Given the description of an element on the screen output the (x, y) to click on. 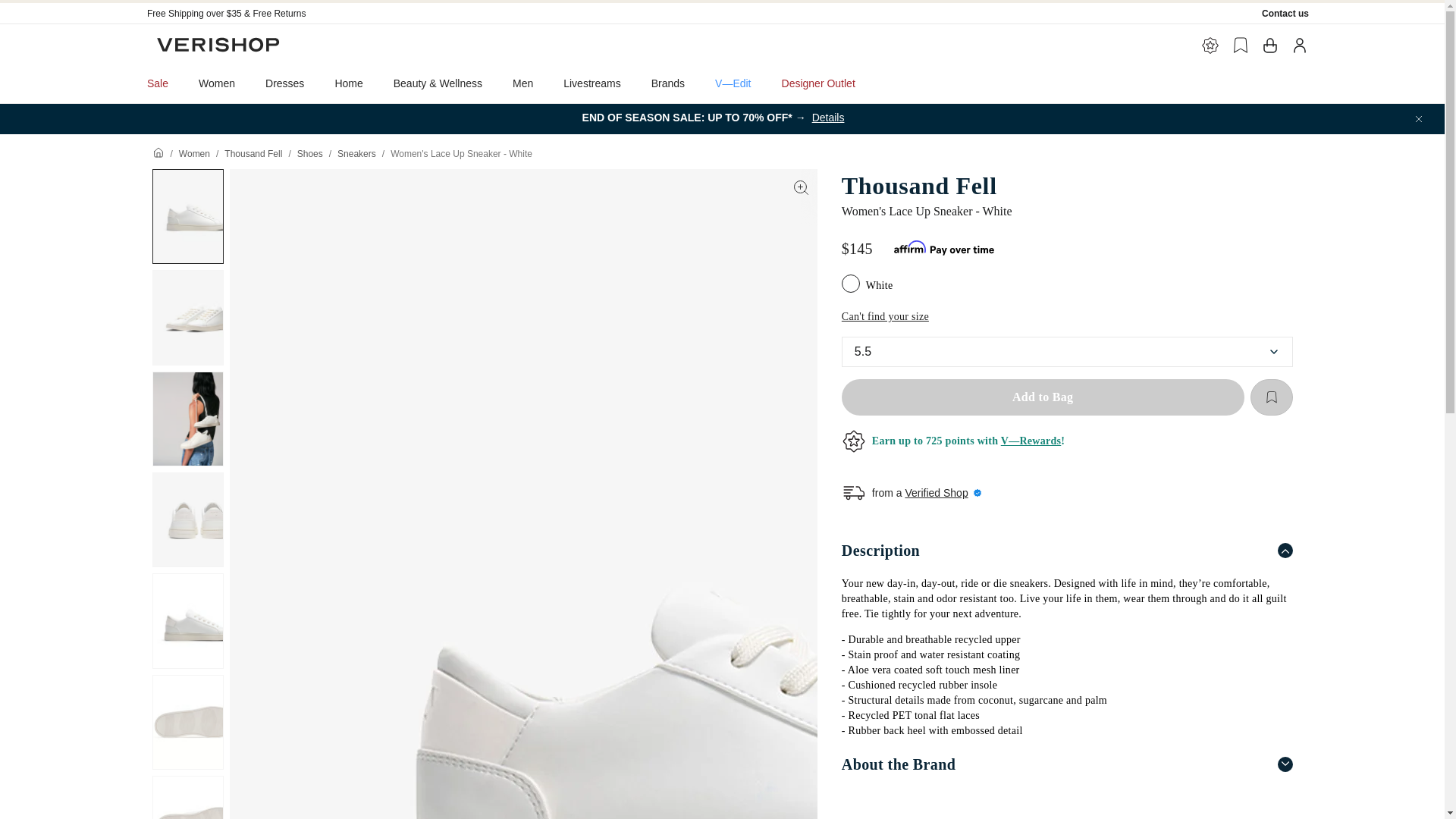
Women (194, 153)
skip to main content (53, 6)
Thousand Fell (253, 153)
Sneakers (356, 153)
Shoes (310, 153)
Can't find your size (884, 316)
Dresses (284, 82)
Designer Outlet (818, 82)
Thousand Fell (1066, 185)
Contact us (1285, 13)
Contact us (1285, 13)
Livestreams (591, 82)
Free Returns (278, 13)
Brands (668, 82)
White (852, 285)
